Given the description of an element on the screen output the (x, y) to click on. 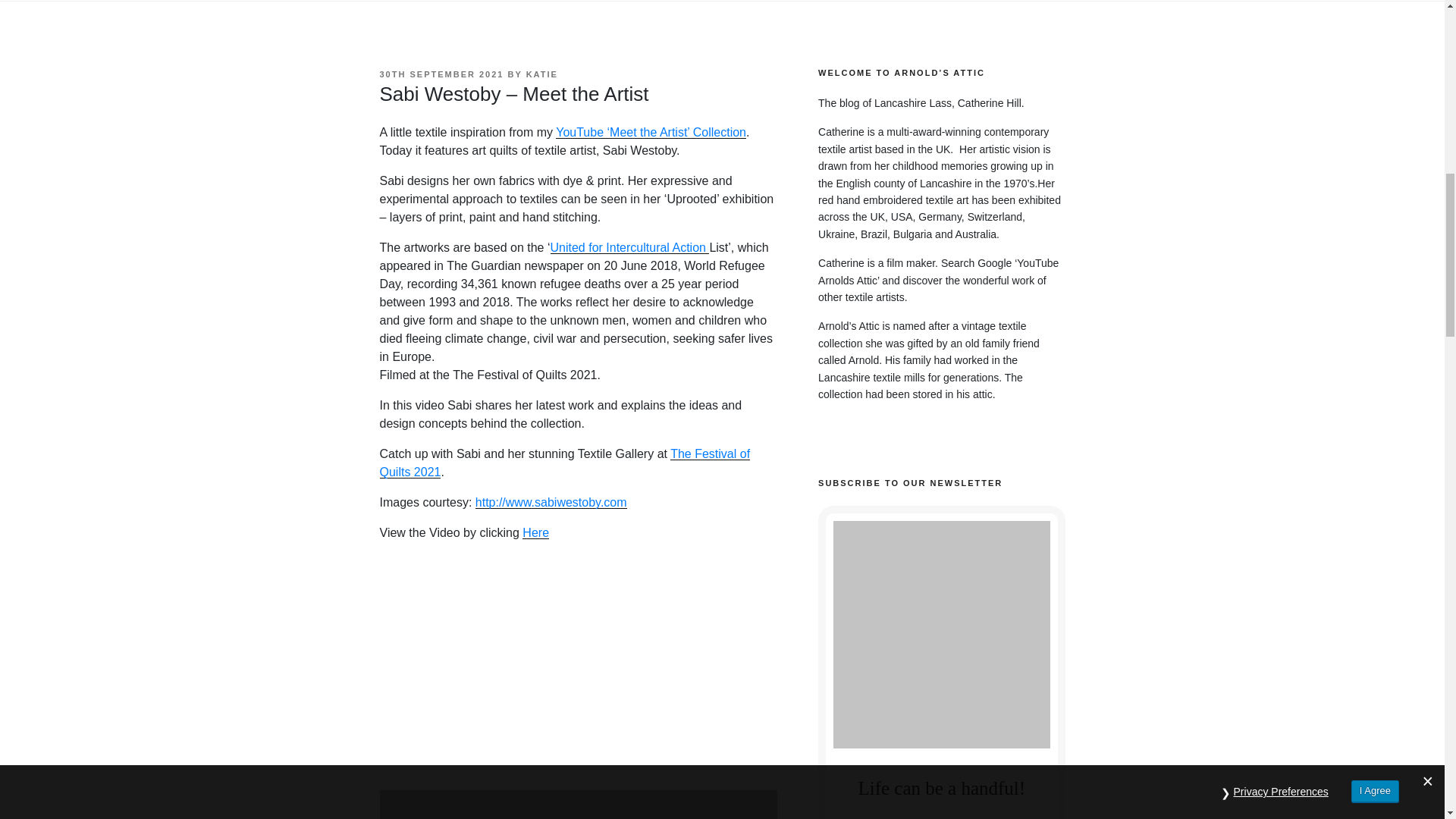
30TH SEPTEMBER 2021 (440, 73)
Here (535, 532)
United for Intercultural Action (630, 246)
KATIE (541, 73)
The Festival of Quilts 2021 (563, 462)
